Given the description of an element on the screen output the (x, y) to click on. 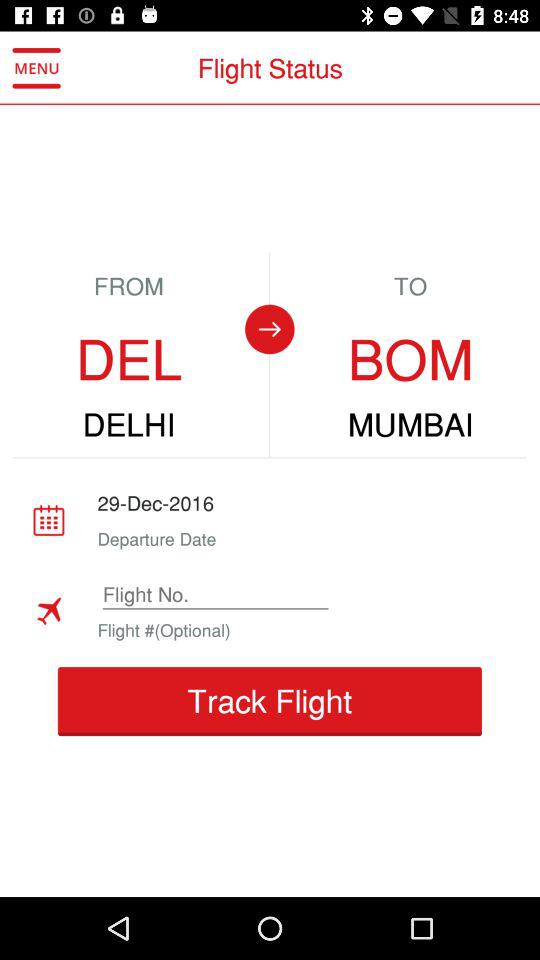
launch icon above del item (36, 68)
